Given the description of an element on the screen output the (x, y) to click on. 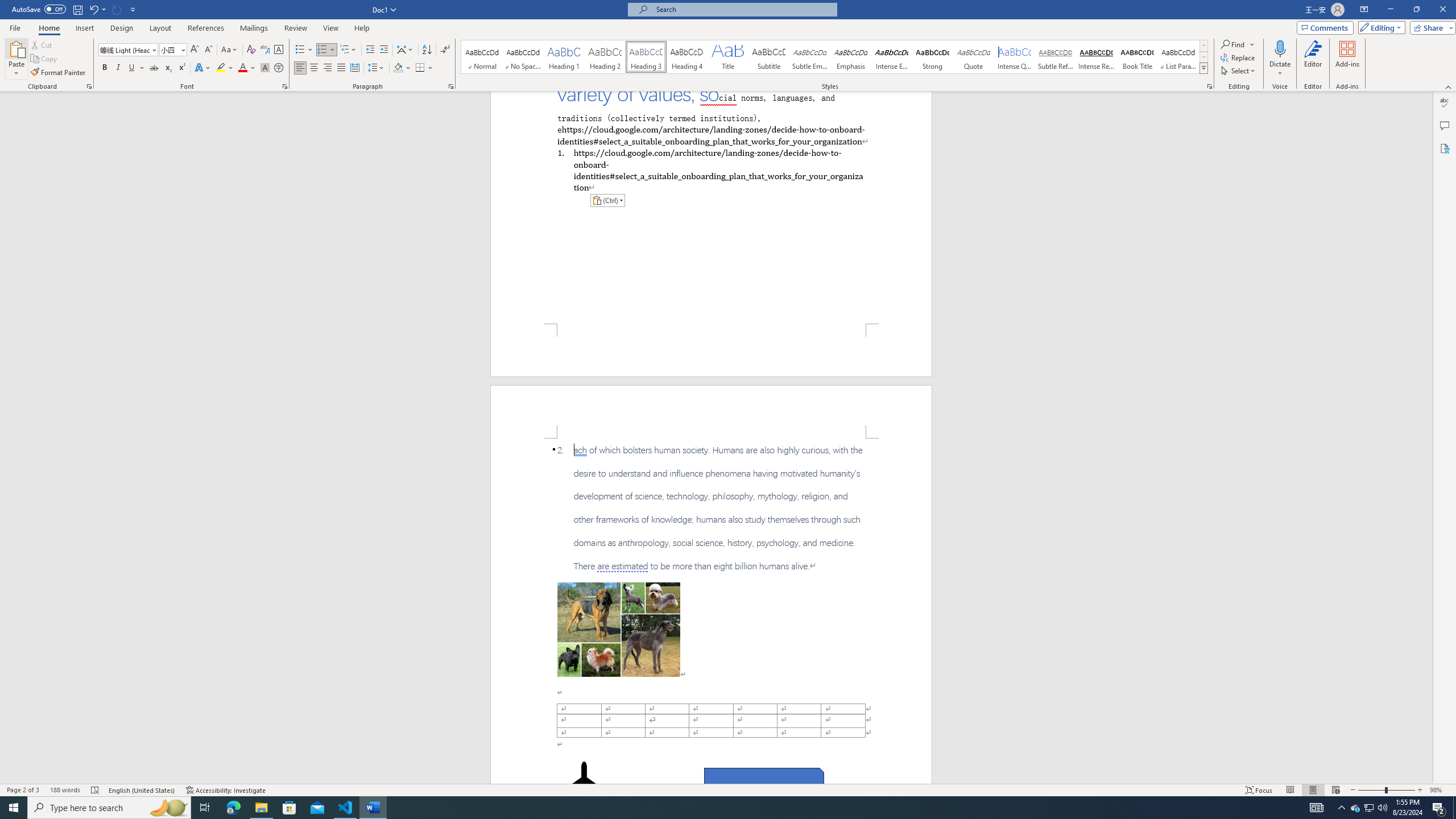
Class: MsoCommandBar (728, 789)
Rectangle: Diagonal Corners Snipped 2 (764, 781)
Intense Emphasis (891, 56)
Page 2 content (710, 610)
Strikethrough (154, 67)
